Given the description of an element on the screen output the (x, y) to click on. 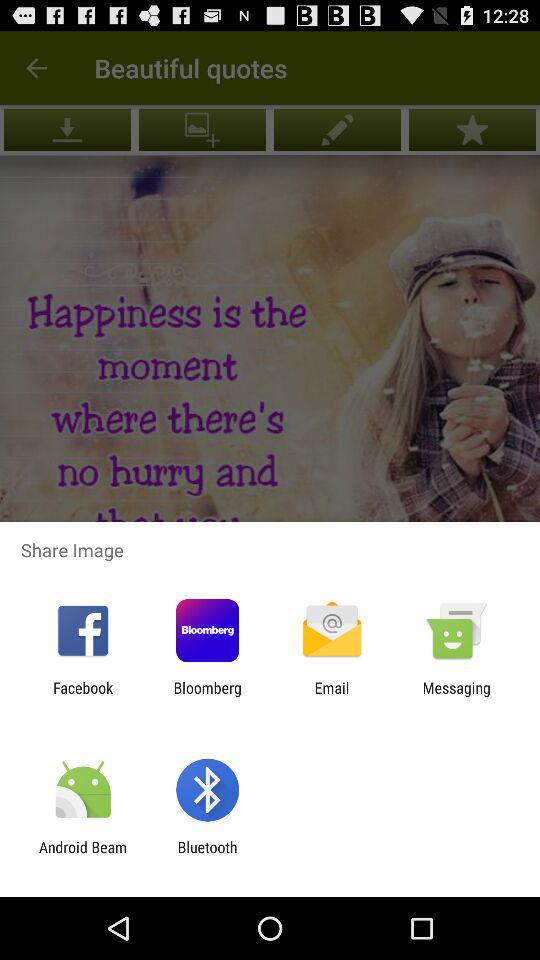
tap the app to the right of the facebook item (207, 696)
